Given the description of an element on the screen output the (x, y) to click on. 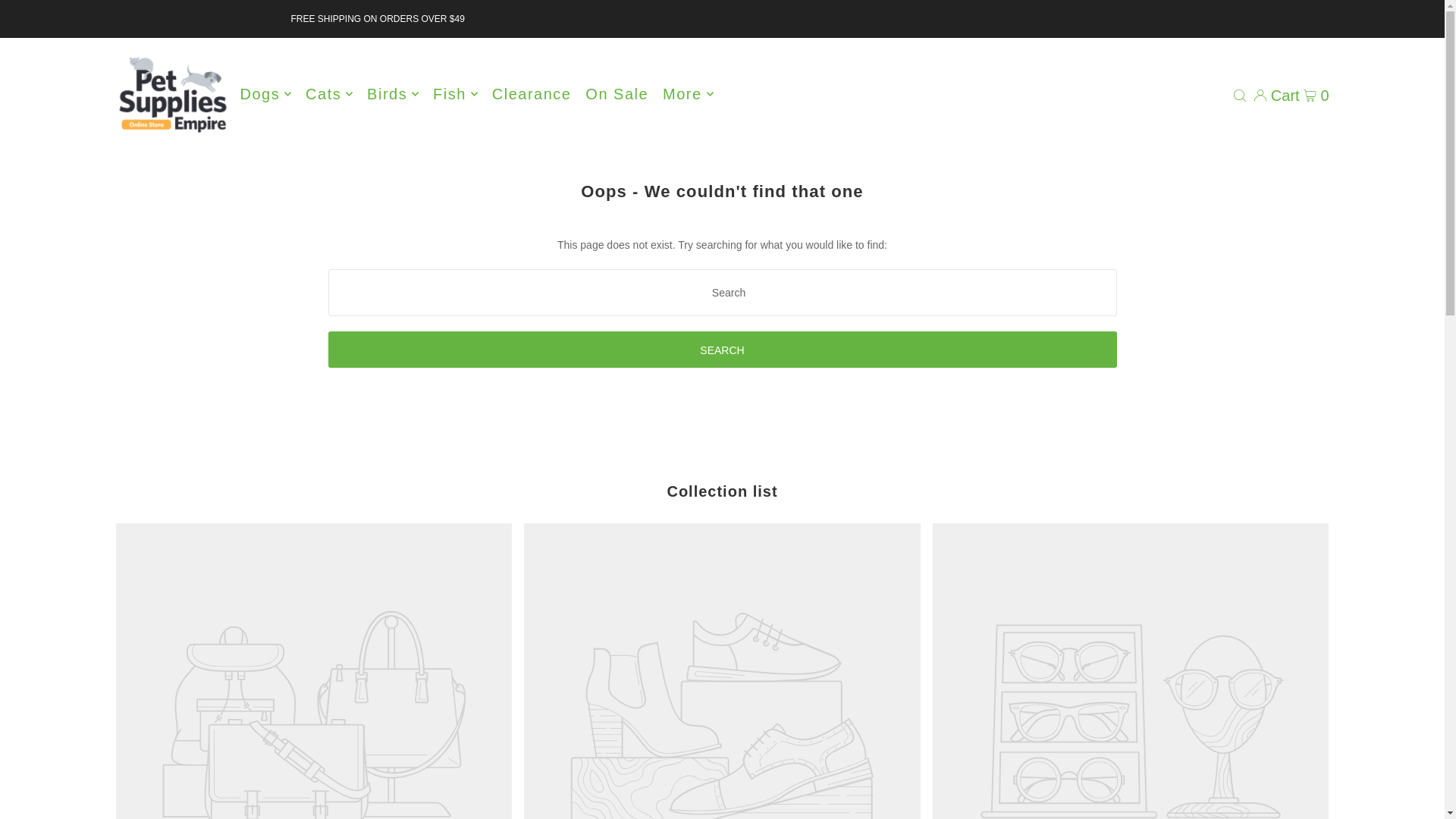
Search (721, 349)
Collection image (313, 671)
Collection image (1131, 671)
Dogs (265, 94)
Collection image (722, 671)
